Given the description of an element on the screen output the (x, y) to click on. 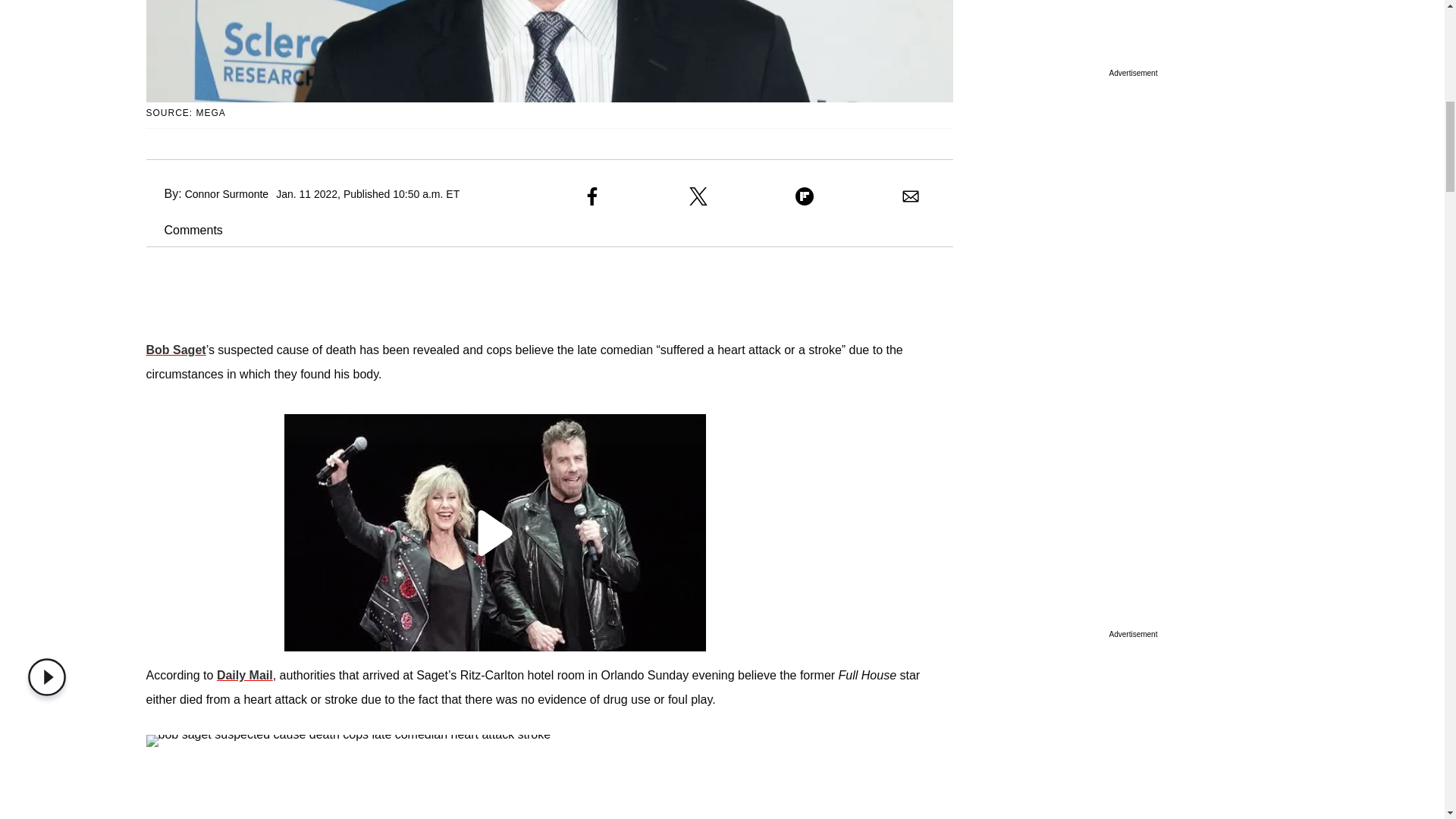
Comments (183, 229)
Share to Facebook (590, 196)
Share to Email (909, 196)
Share to X (697, 196)
Daily Mail (244, 675)
Connor Surmonte (226, 193)
Bob Saget (175, 349)
Share to Flipboard (803, 196)
